Given the description of an element on the screen output the (x, y) to click on. 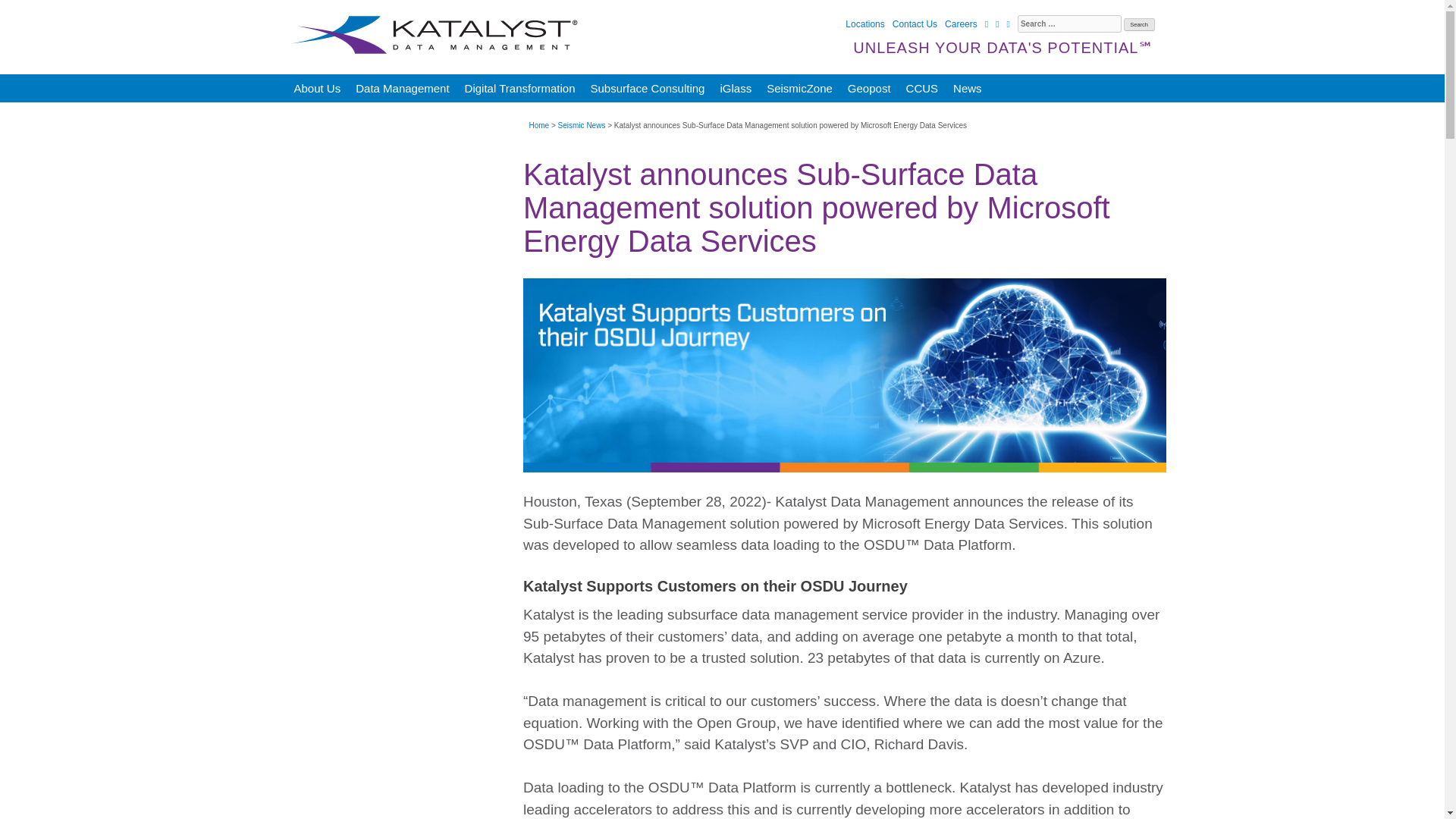
Search (1139, 24)
Locations (864, 23)
Contact Us (914, 23)
Digital Transformation (520, 88)
About Us (317, 88)
Subsurface Consulting (648, 88)
Data Management (402, 88)
Search (1139, 24)
Careers (960, 23)
